Given the description of an element on the screen output the (x, y) to click on. 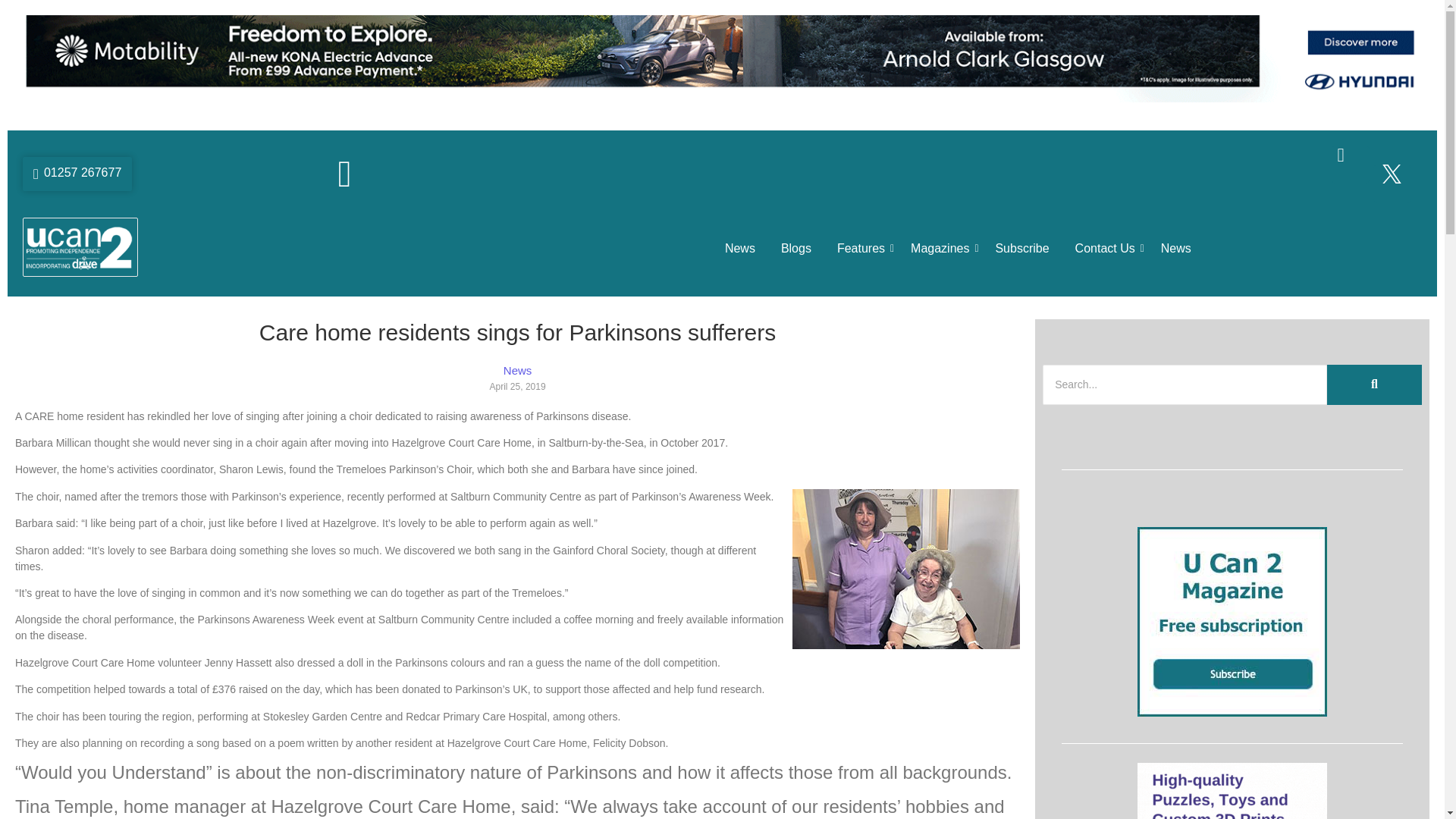
Subscribe (1022, 249)
Contact Us (1105, 249)
Blogs (796, 249)
News (739, 249)
Magazines (939, 249)
Search (1184, 384)
News (1176, 249)
Features (860, 249)
01257 267677 (77, 173)
